Given the description of an element on the screen output the (x, y) to click on. 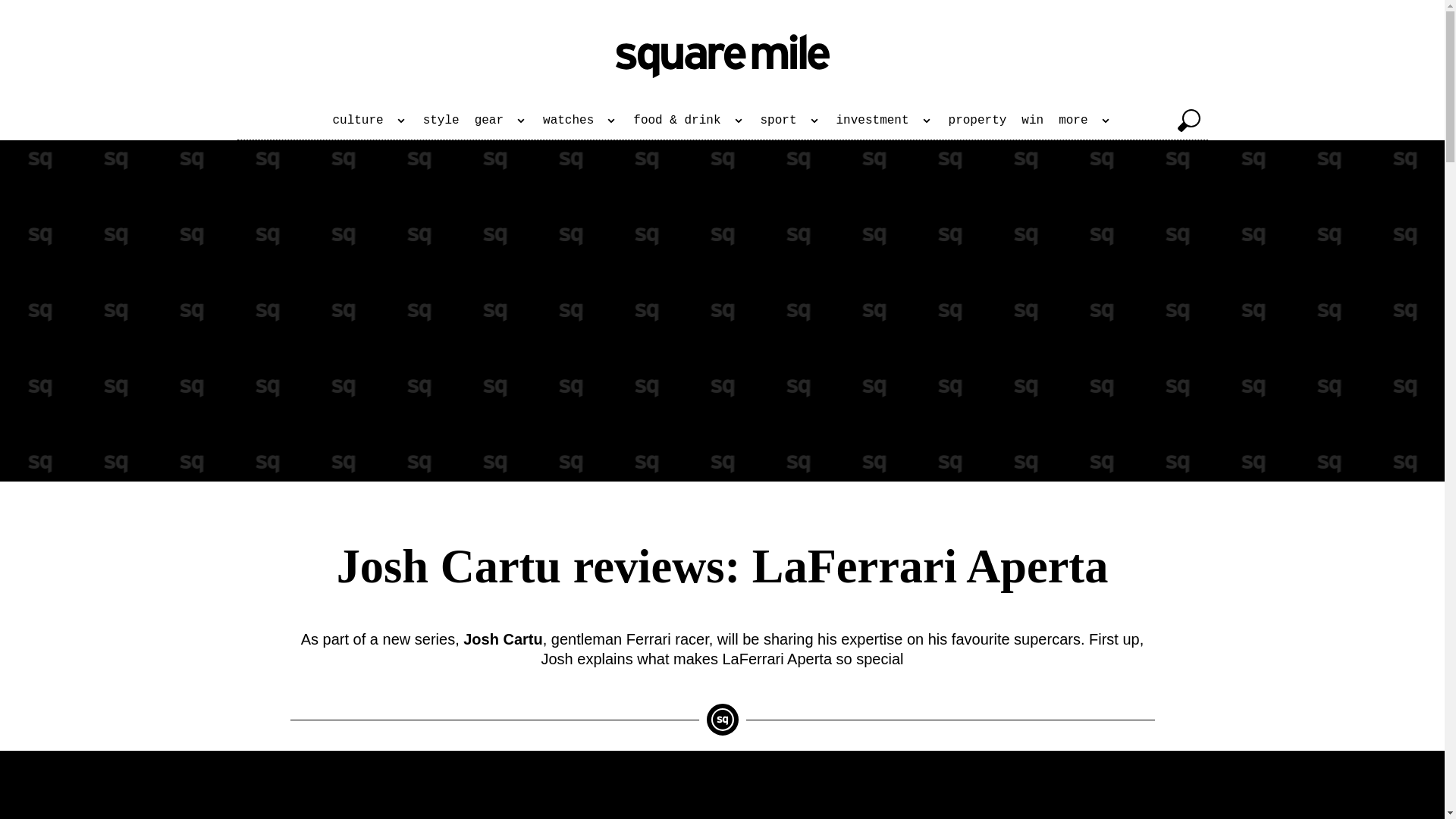
Culture (369, 120)
Watches (580, 120)
investment (884, 120)
culture (369, 120)
sport (790, 120)
style (440, 120)
Style (440, 120)
Square Mile (722, 56)
gear (501, 120)
watches (580, 120)
